Given the description of an element on the screen output the (x, y) to click on. 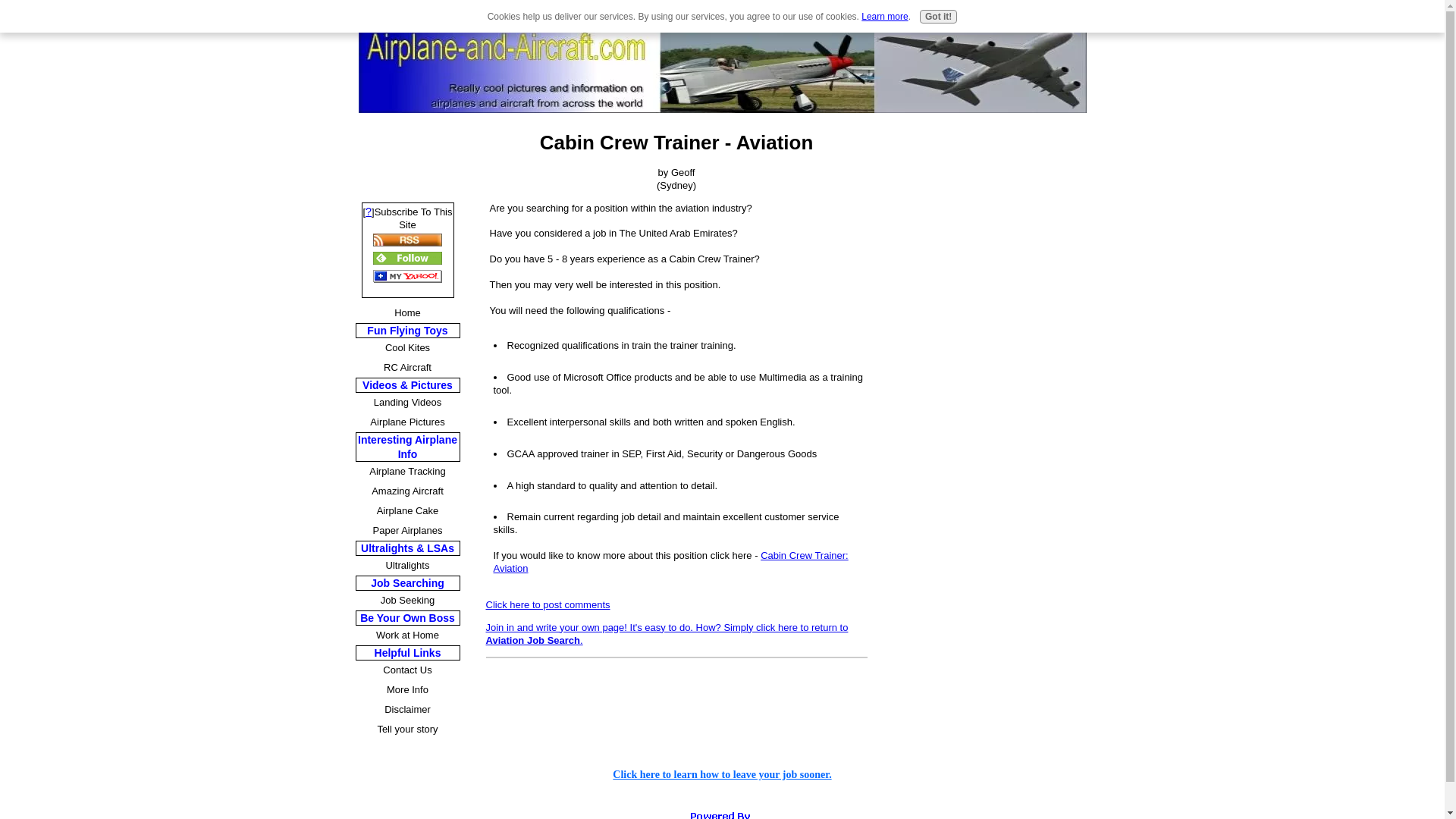
Welcome to Airplane-and-Aircraft.com (721, 774)
Cool Kites (407, 347)
Click here to learn how to leave your job sooner. (721, 774)
Click here to post comments (547, 604)
Learn more (884, 16)
Airplane Cake (407, 510)
Home (407, 312)
Work at Home (407, 635)
Advertisement (406, 149)
